Given the description of an element on the screen output the (x, y) to click on. 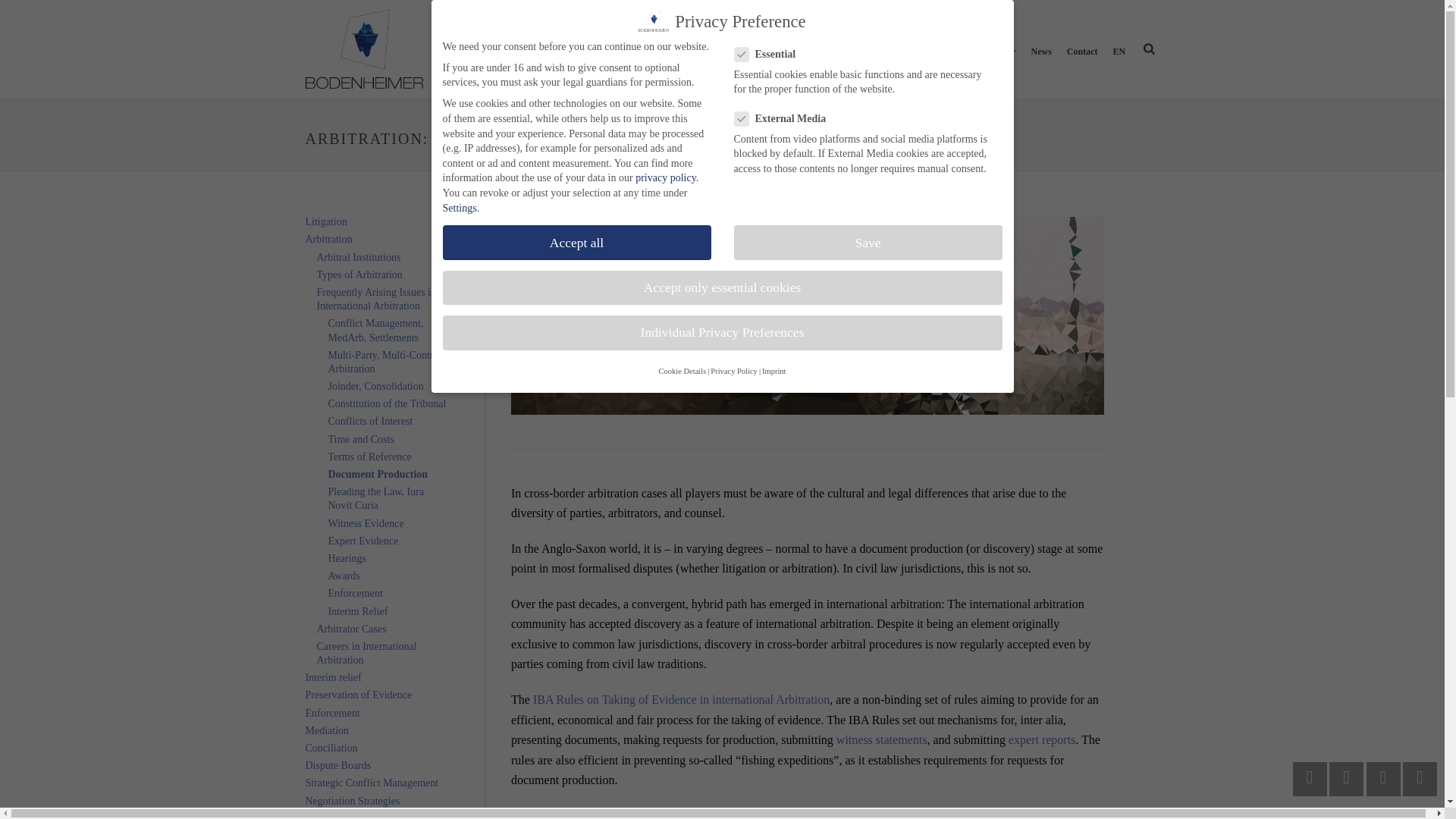
News (1040, 49)
Awards (958, 49)
Team (850, 49)
EN (1118, 49)
changing perspectives (363, 48)
International (902, 49)
Disputes (615, 49)
Team (850, 49)
Disputes (615, 49)
Career (1002, 49)
Contact (1082, 49)
EN (1118, 49)
